Given the description of an element on the screen output the (x, y) to click on. 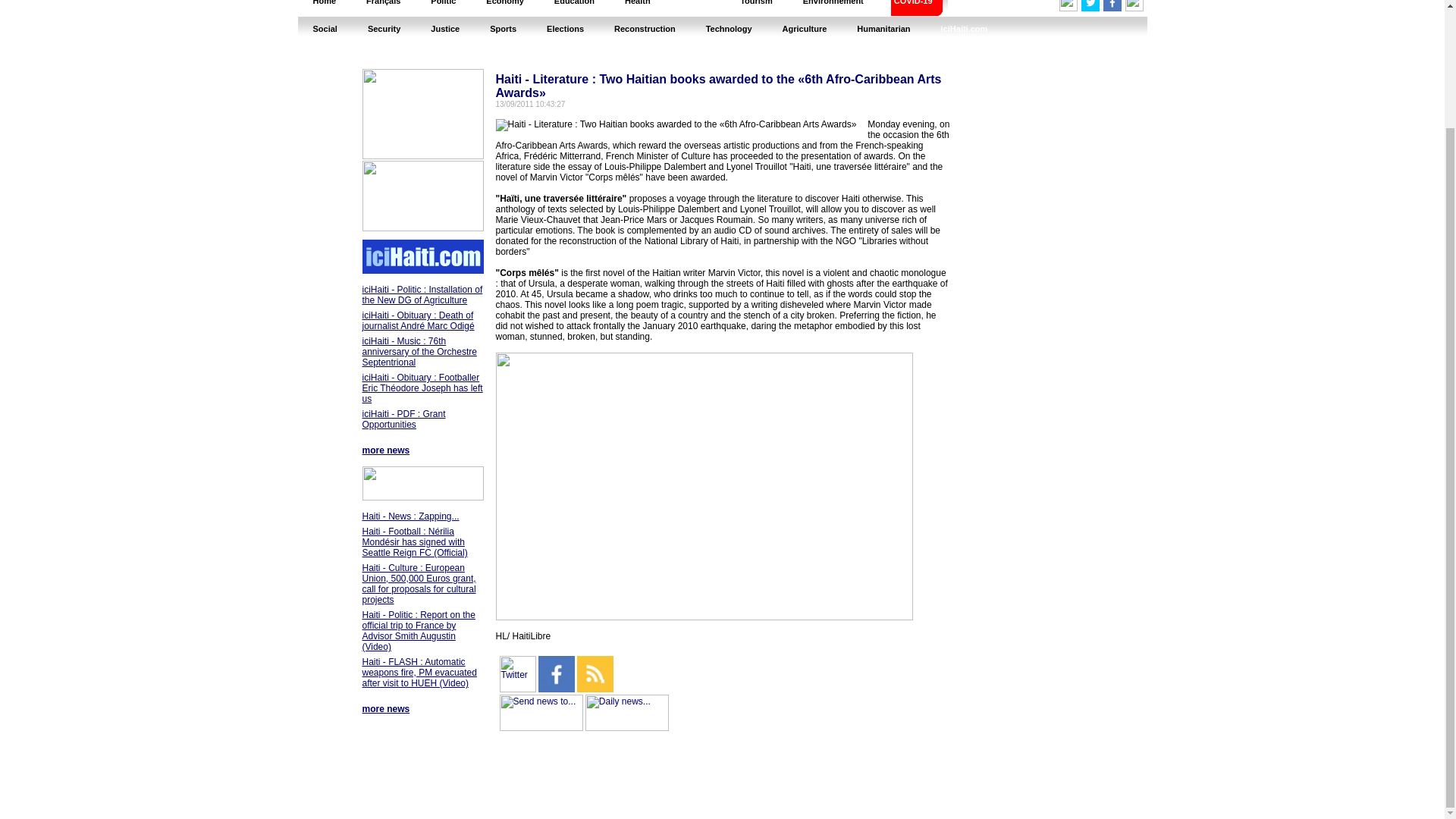
Justice (444, 28)
Sports (502, 28)
Environnement (833, 7)
Culture (695, 7)
COVID-19 (913, 7)
Education (574, 7)
Health (637, 7)
Elections (564, 28)
Agriculture (805, 28)
Humanitarian (882, 28)
COVID-19 (913, 7)
Tourism (756, 7)
Economy (504, 7)
Politic (442, 7)
Security (383, 28)
